Given the description of an element on the screen output the (x, y) to click on. 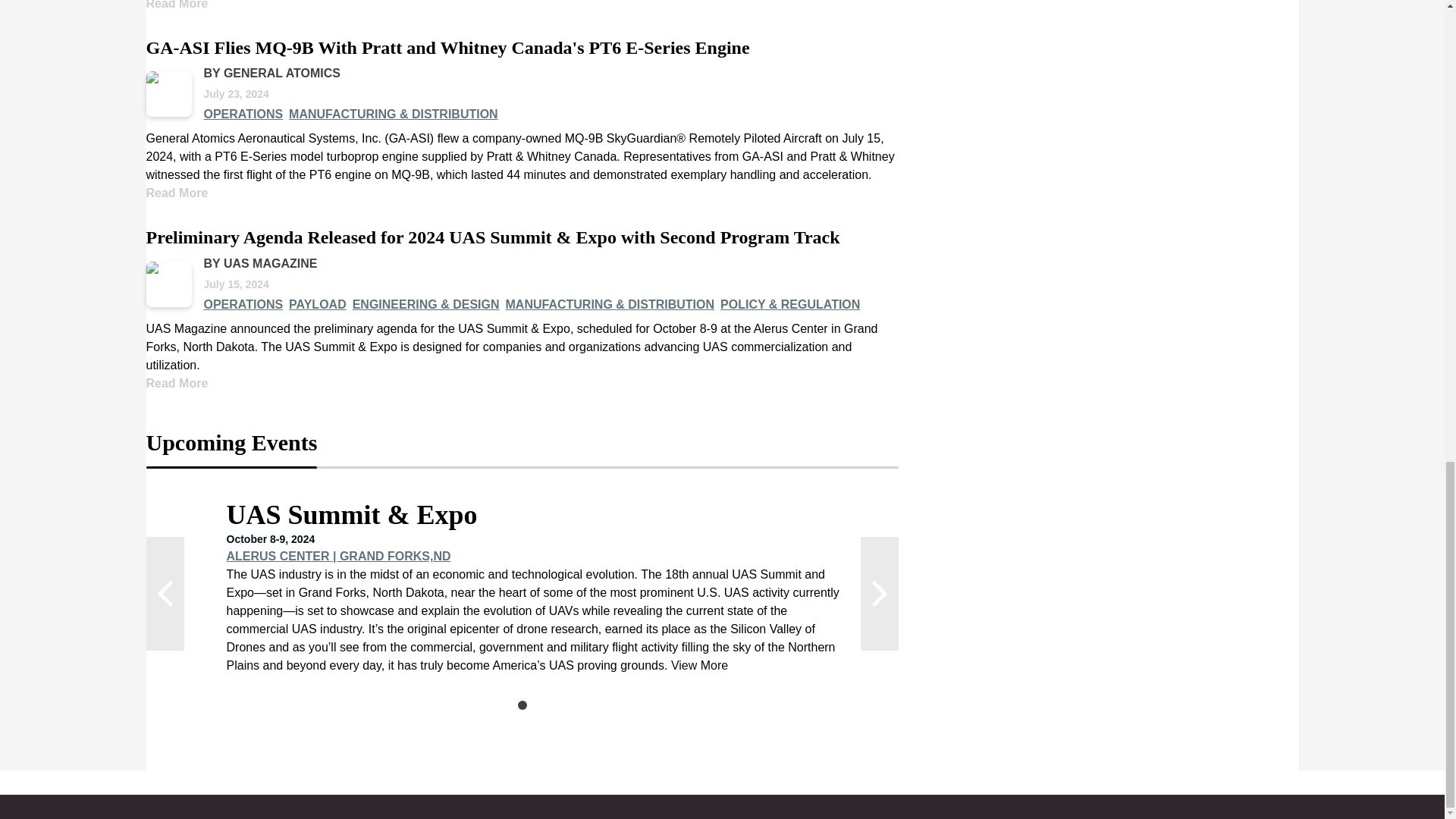
BY GENERAL ATOMICS (271, 72)
OPERATIONS (242, 114)
Read More (176, 4)
